Given the description of an element on the screen output the (x, y) to click on. 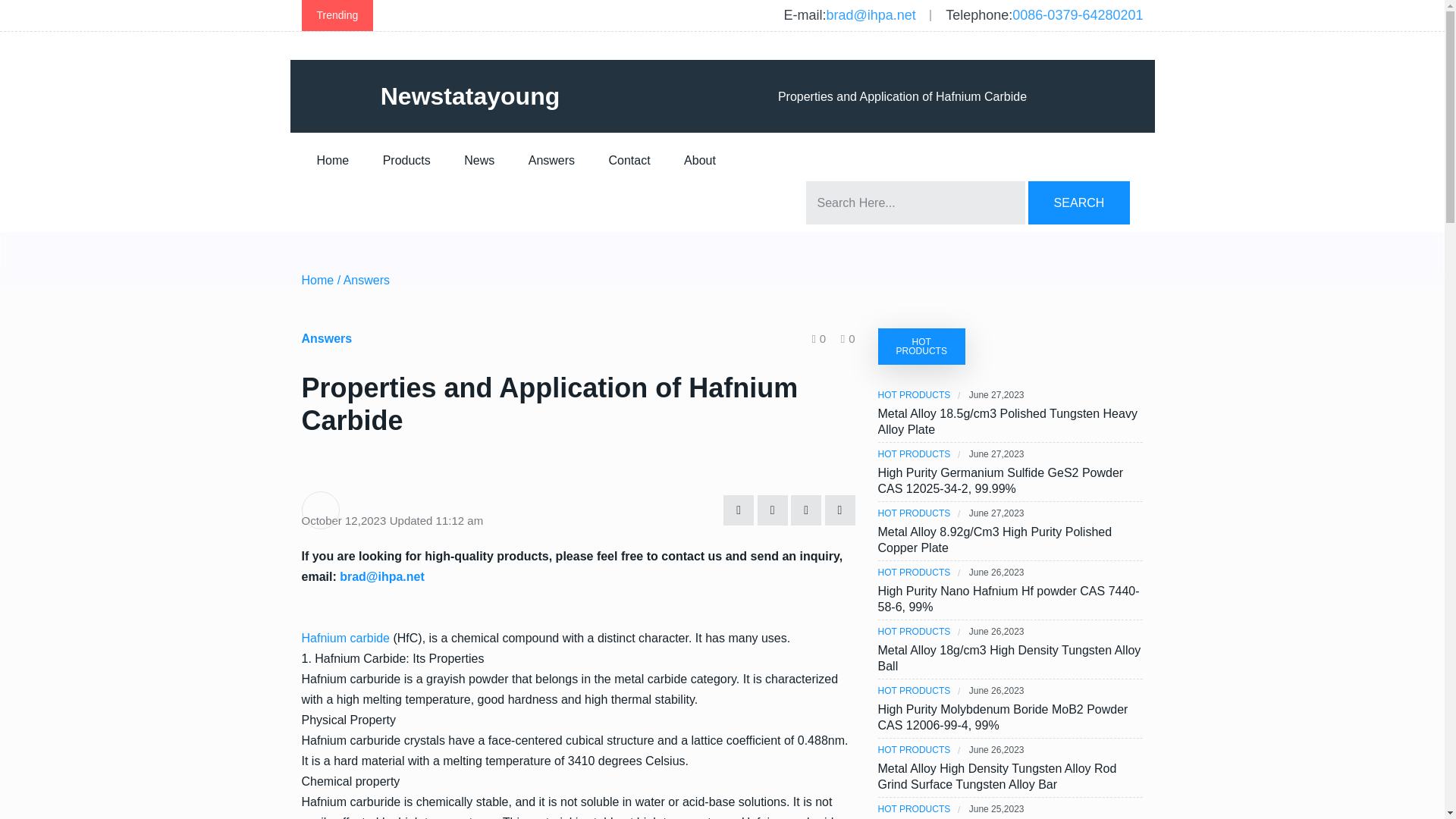
Products (406, 160)
SEARCH (1078, 202)
News (478, 160)
Contact (629, 160)
0086-0379-64280201 (1076, 14)
Answers (551, 160)
Home (317, 280)
About (699, 160)
Properties and Application of Hafnium Carbide (901, 96)
Home (333, 160)
